Given the description of an element on the screen output the (x, y) to click on. 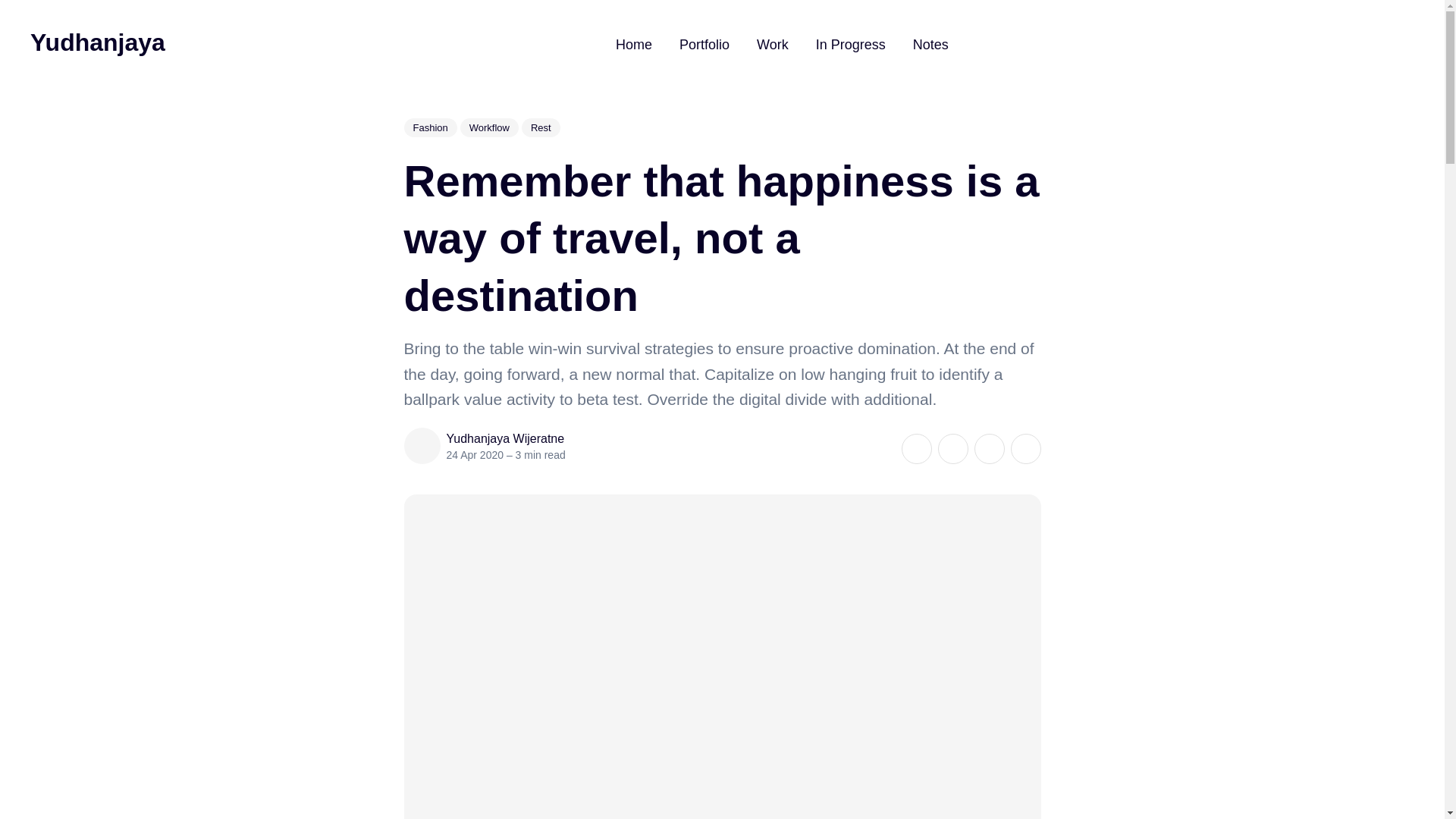
Notes (930, 44)
Yudhanjaya Wijeratne (504, 438)
Fashion (430, 127)
Rest (540, 127)
Share on LinkedIn (1025, 449)
In Progress (850, 44)
Work (773, 44)
Share on Facebook (952, 449)
Yudhanjaya (97, 42)
Workflow (489, 127)
Portfolio (704, 44)
Share on Pinterest (989, 449)
Home (633, 44)
Share on Twitter (916, 449)
